Given the description of an element on the screen output the (x, y) to click on. 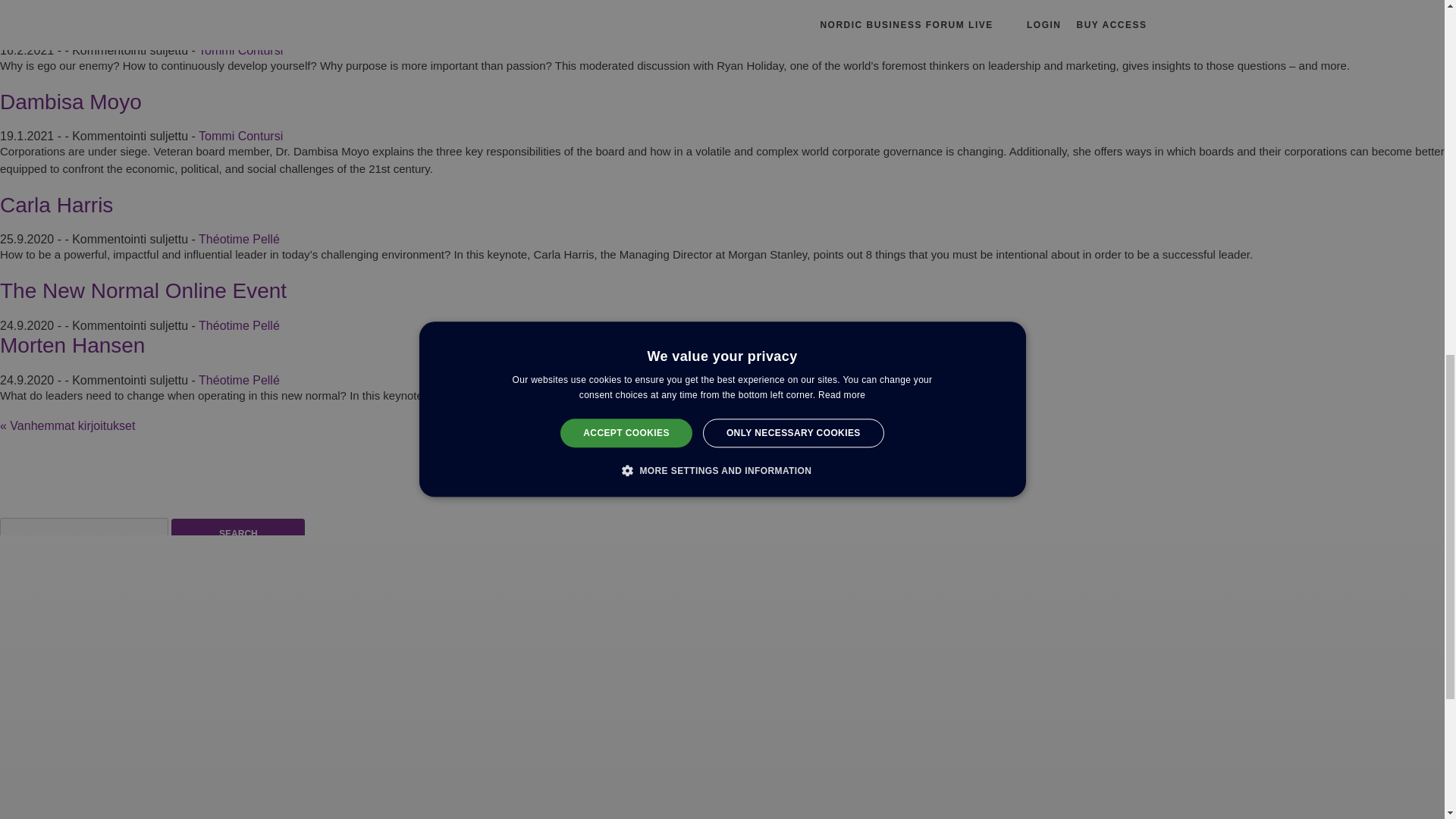
Search (237, 534)
The New Normal Online Event (143, 290)
Juliet Funt - The Strategic Pause - Nordic Business Forum (156, 609)
Video Library (368, 609)
Video Library (674, 623)
Tommi Contursi (240, 50)
Ryan Holiday (63, 15)
Carla Harris (56, 205)
Search (237, 534)
The New Normal Online Event (143, 290)
Tommi Contursi (240, 135)
Video Library (524, 636)
Morten Hansen (72, 345)
Dambisa Moyo (70, 101)
Dambisa Moyo (70, 101)
